Given the description of an element on the screen output the (x, y) to click on. 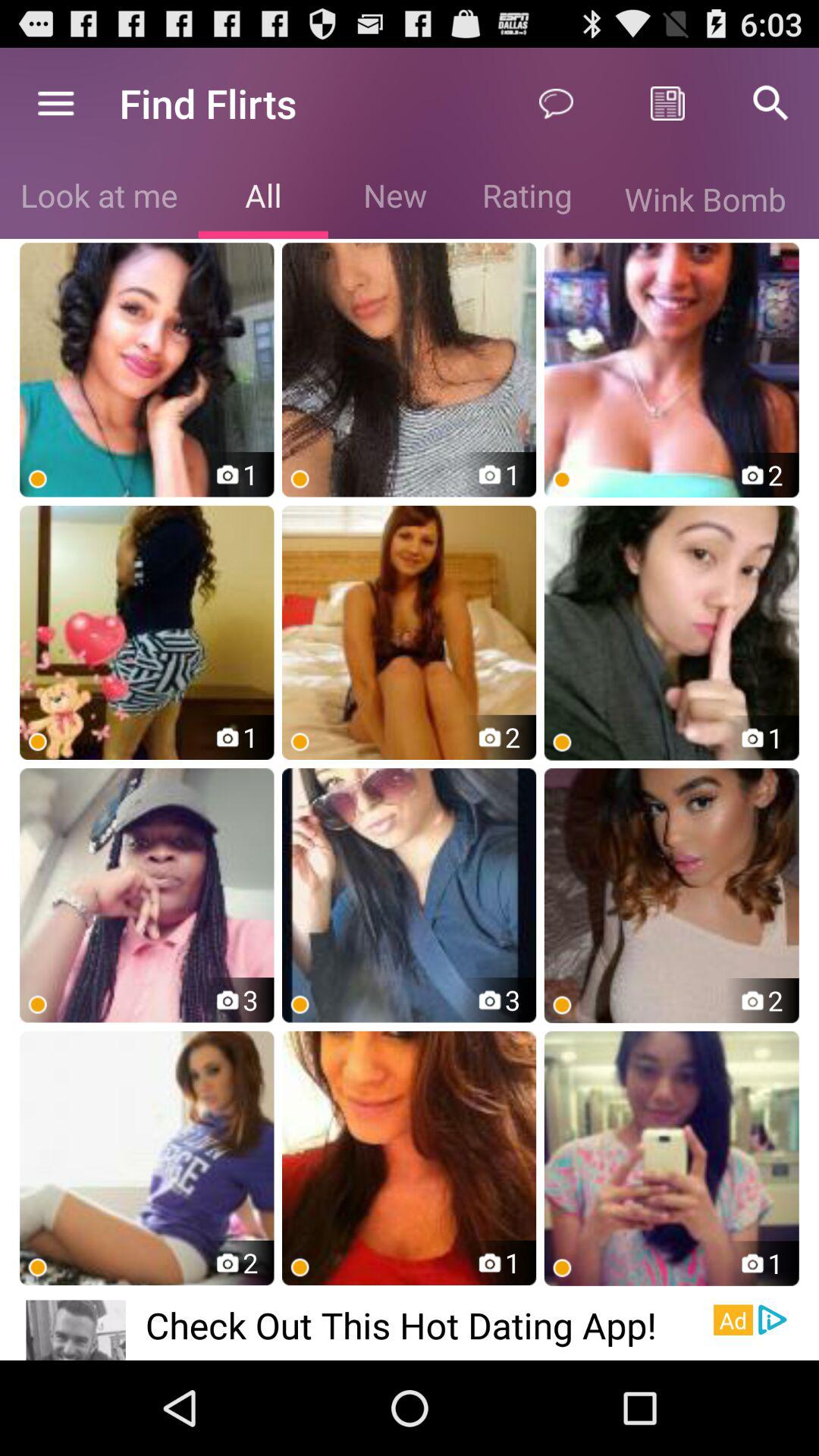
open the item below find flirts item (263, 198)
